Given the description of an element on the screen output the (x, y) to click on. 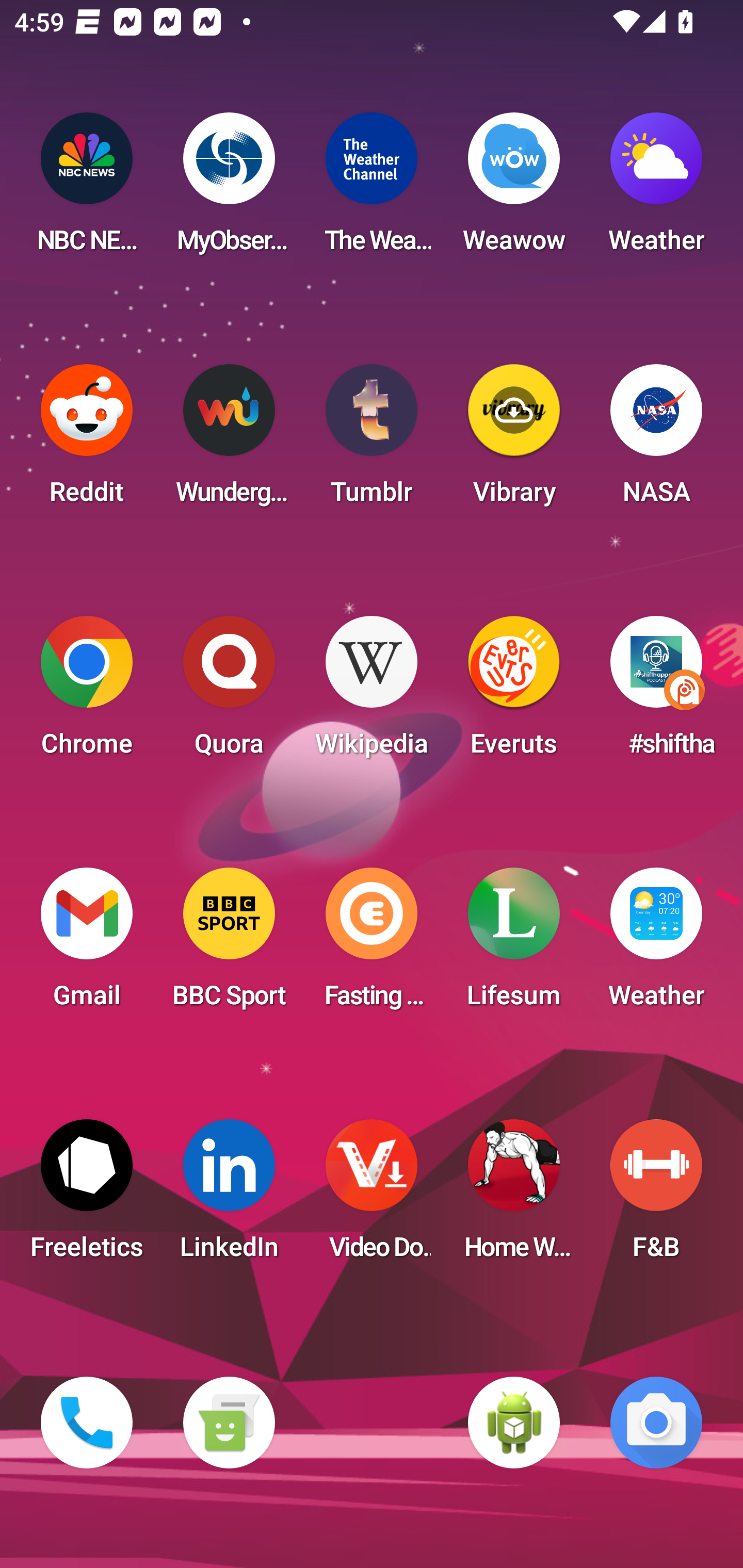
NBC NEWS (86, 188)
MyObservatory (228, 188)
The Weather Channel (371, 188)
Weawow (513, 188)
Weather (656, 188)
Reddit (86, 440)
Wunderground (228, 440)
Tumblr (371, 440)
Vibrary (513, 440)
NASA (656, 440)
Chrome (86, 692)
Quora (228, 692)
Wikipedia (371, 692)
Everuts (513, 692)
#shifthappens in the Digital Workplace Podcast (656, 692)
Gmail (86, 943)
BBC Sport (228, 943)
Fasting Coach (371, 943)
Lifesum (513, 943)
Weather (656, 943)
Freeletics (86, 1195)
LinkedIn (228, 1195)
Video Downloader & Ace Player (371, 1195)
Home Workout (513, 1195)
F&B (656, 1195)
Phone (86, 1422)
Messaging (228, 1422)
WebView Browser Tester (513, 1422)
Camera (656, 1422)
